Given the description of an element on the screen output the (x, y) to click on. 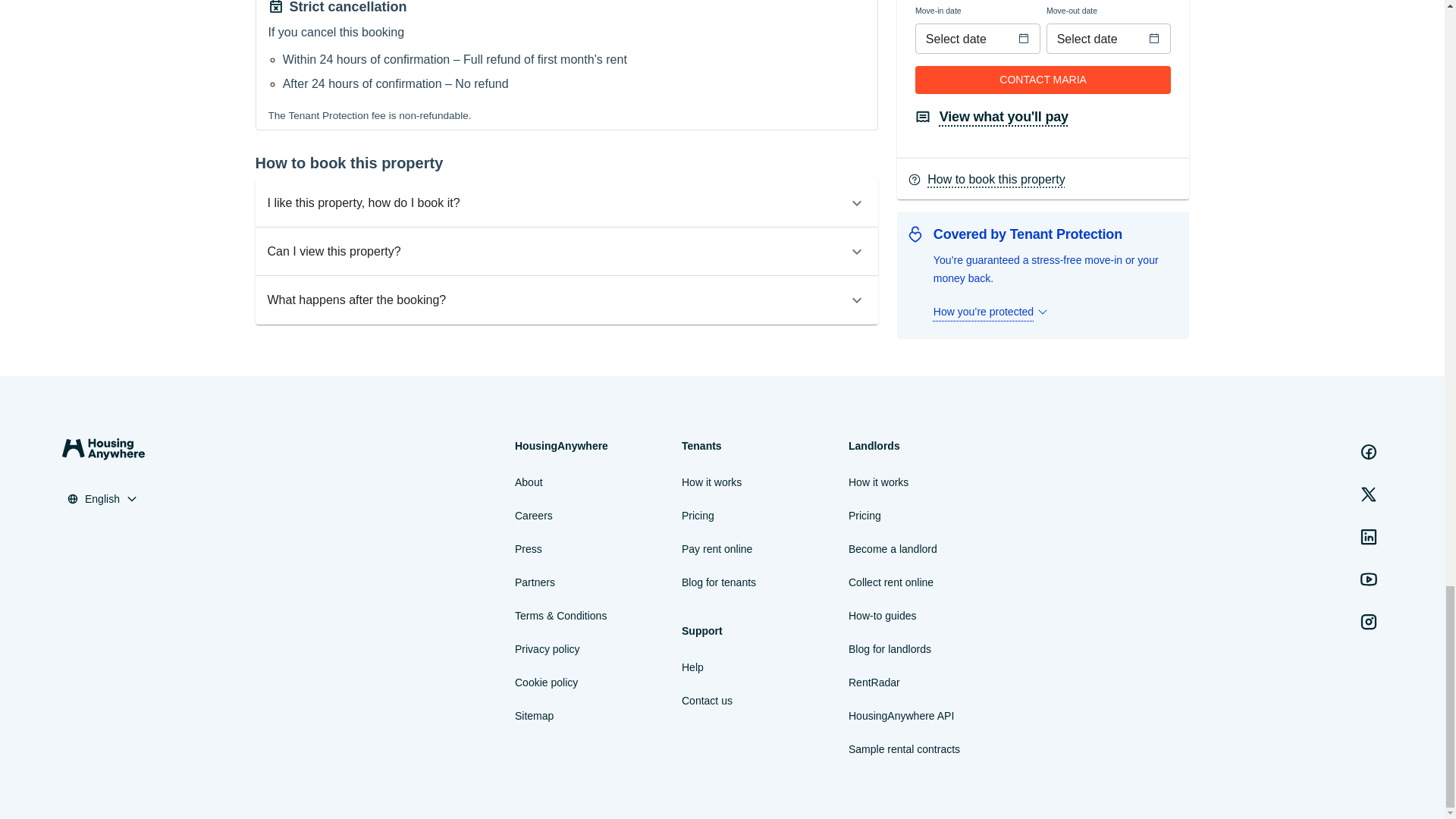
Careers (534, 515)
Sitemap (534, 715)
Partners (534, 582)
About (529, 482)
youtube (1369, 579)
Cookie policy (546, 682)
Privacy policy (547, 648)
twitter (1369, 494)
How it works (711, 482)
linkedin (1369, 536)
